Given the description of an element on the screen output the (x, y) to click on. 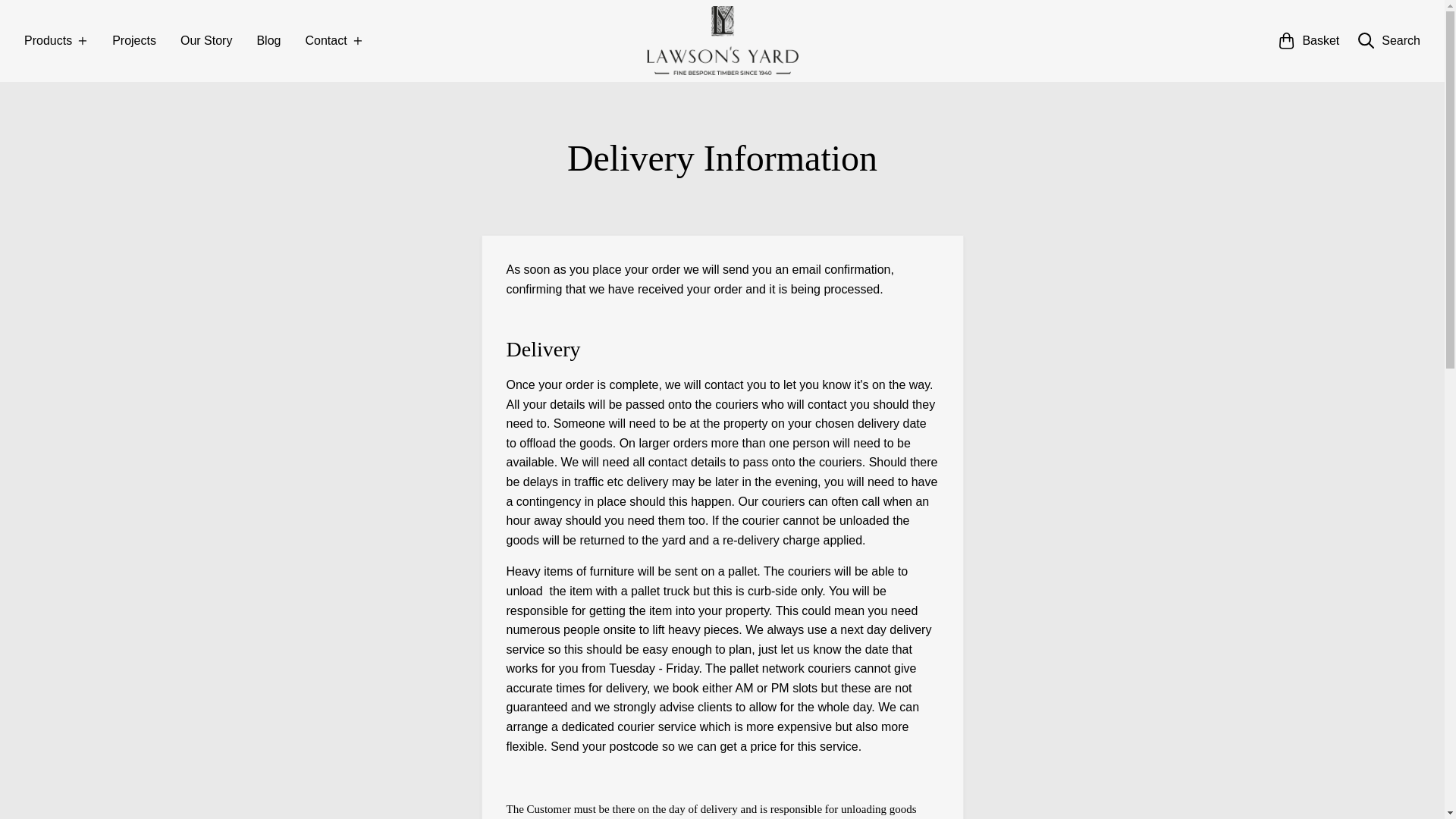
Products (55, 40)
Search (1388, 40)
Blog (268, 40)
Contact (333, 40)
Our Story (205, 40)
Basket (1308, 40)
Projects (133, 40)
